Given the description of an element on the screen output the (x, y) to click on. 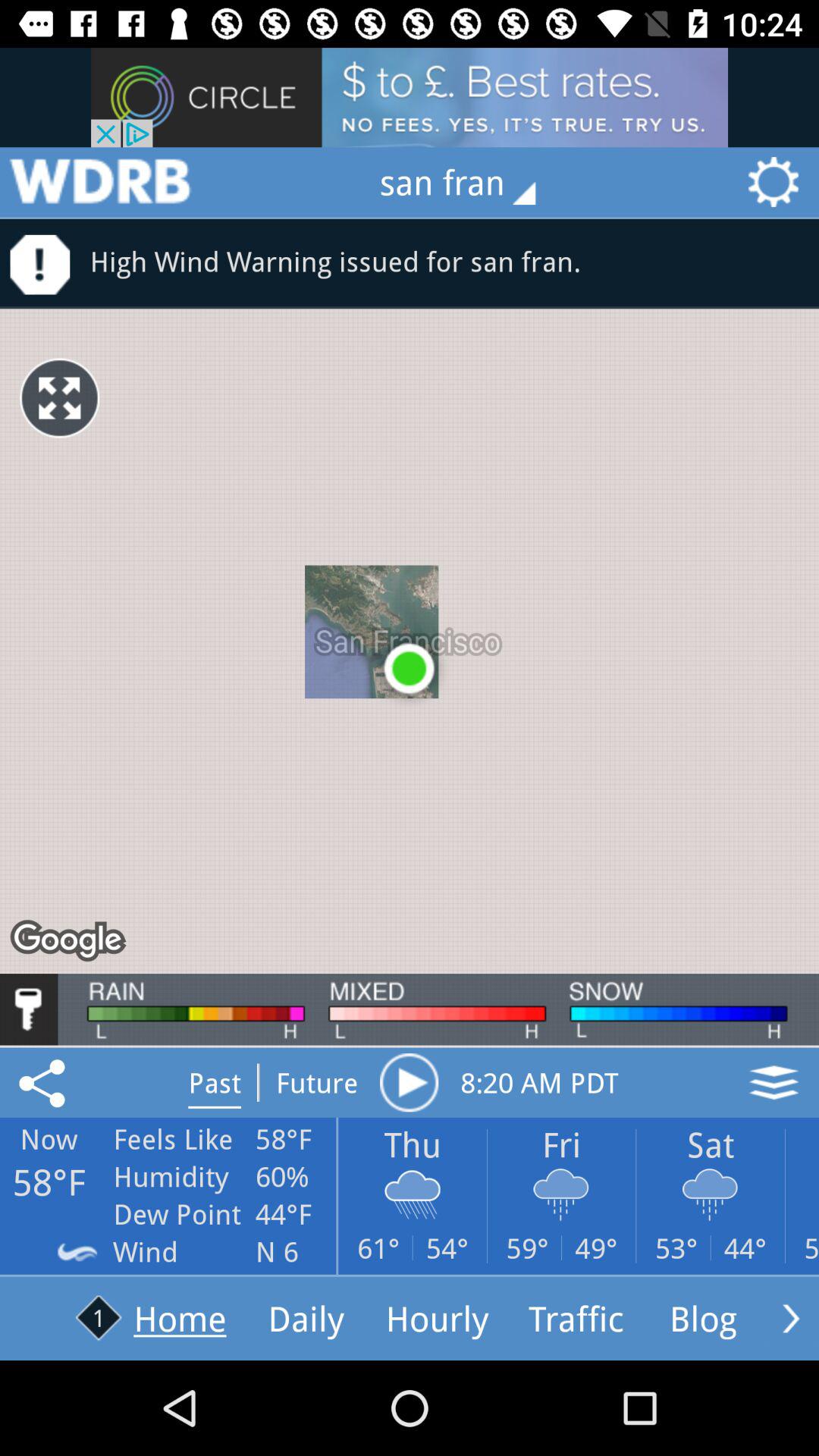
go to save (44, 1082)
